Given the description of an element on the screen output the (x, y) to click on. 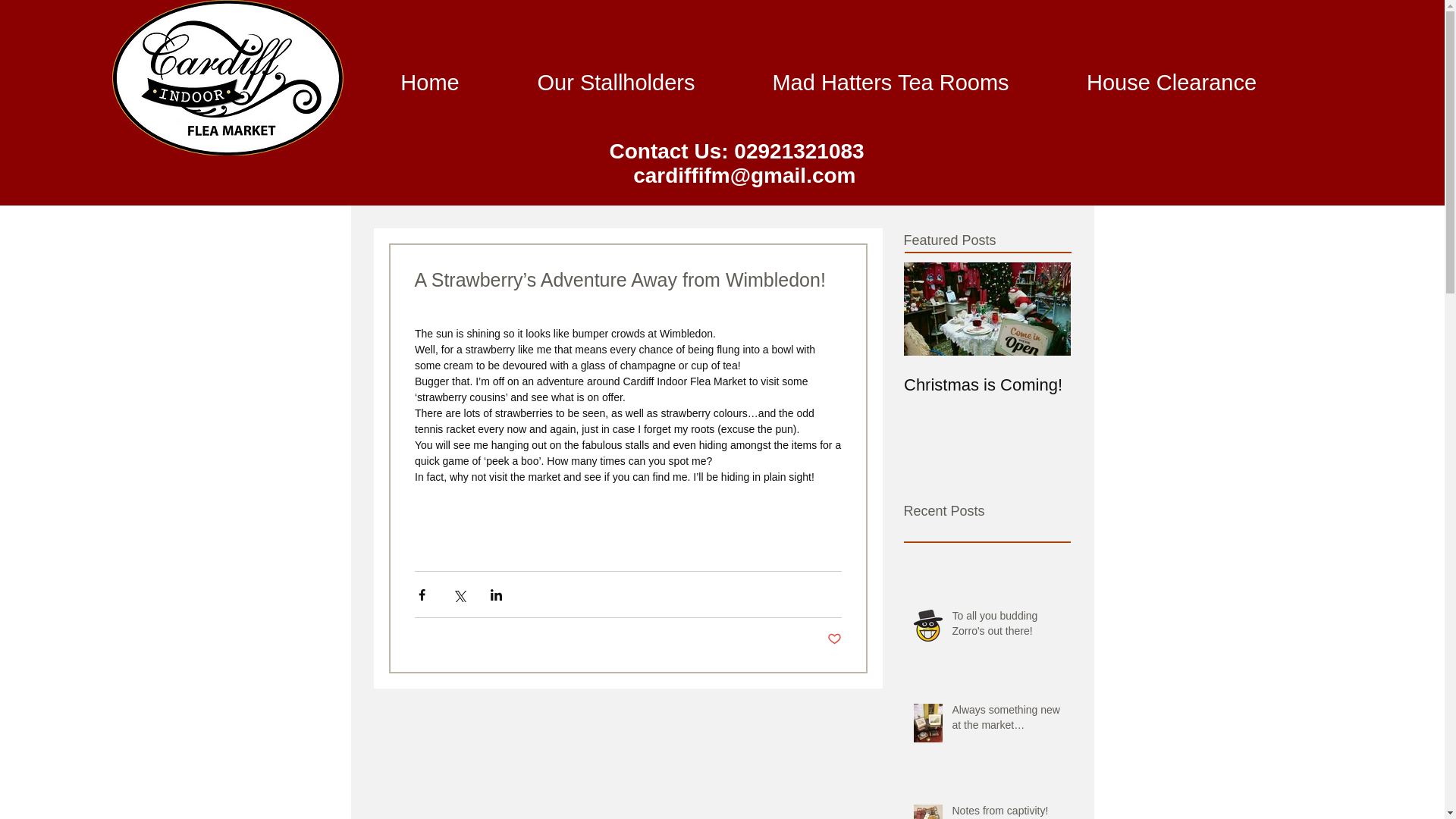
Hello Boys and Ghoules! (1153, 394)
Post not marked as liked (834, 639)
To all you budding Zorro's out there! (1006, 626)
Christmas is Coming! (987, 384)
Notes from captivity! (1006, 811)
House Clearance (1170, 82)
Our Stallholders (615, 82)
Home (429, 82)
Mad Hatters Tea Rooms (889, 82)
